Given the description of an element on the screen output the (x, y) to click on. 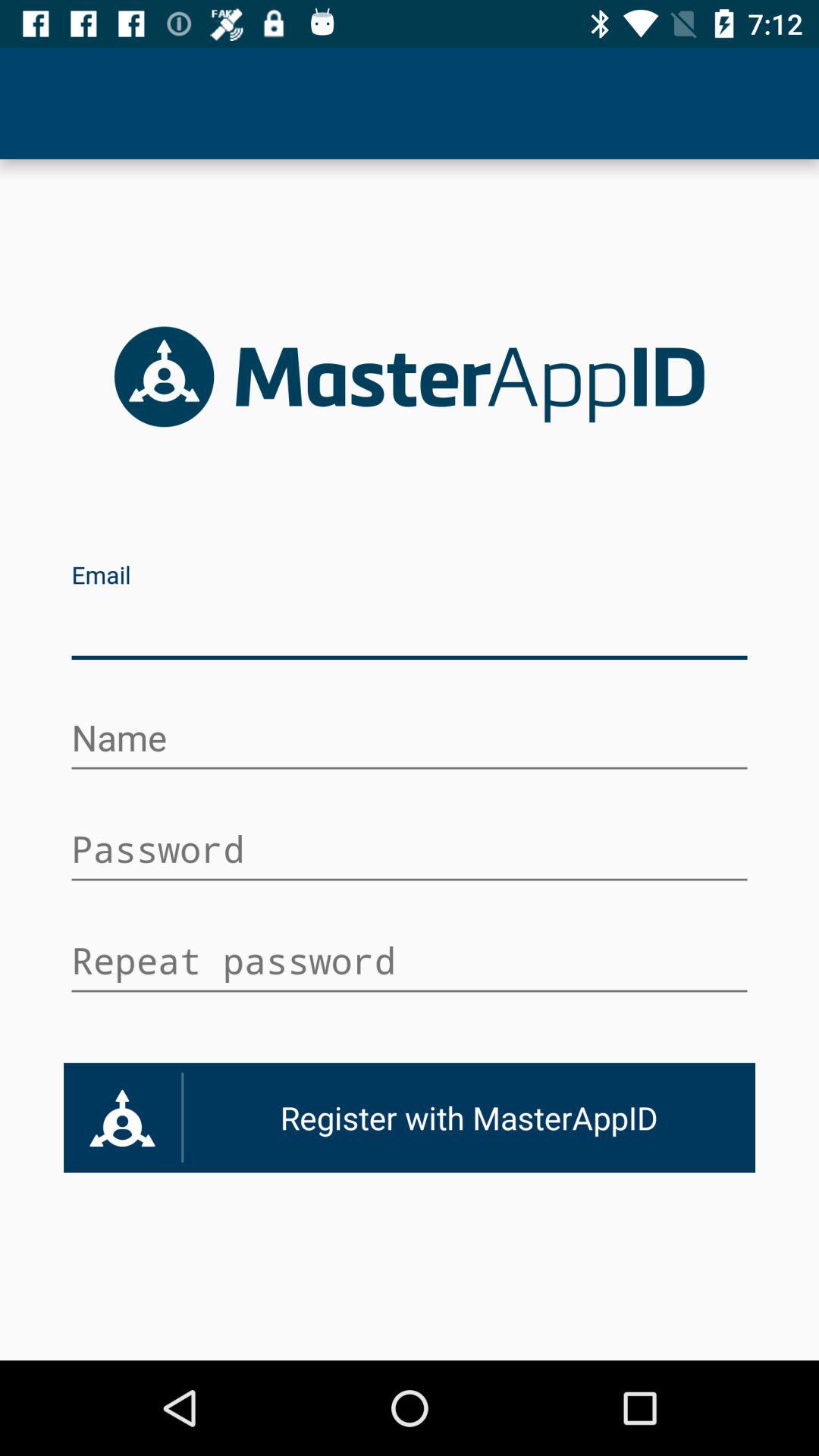
enter email address (409, 628)
